Given the description of an element on the screen output the (x, y) to click on. 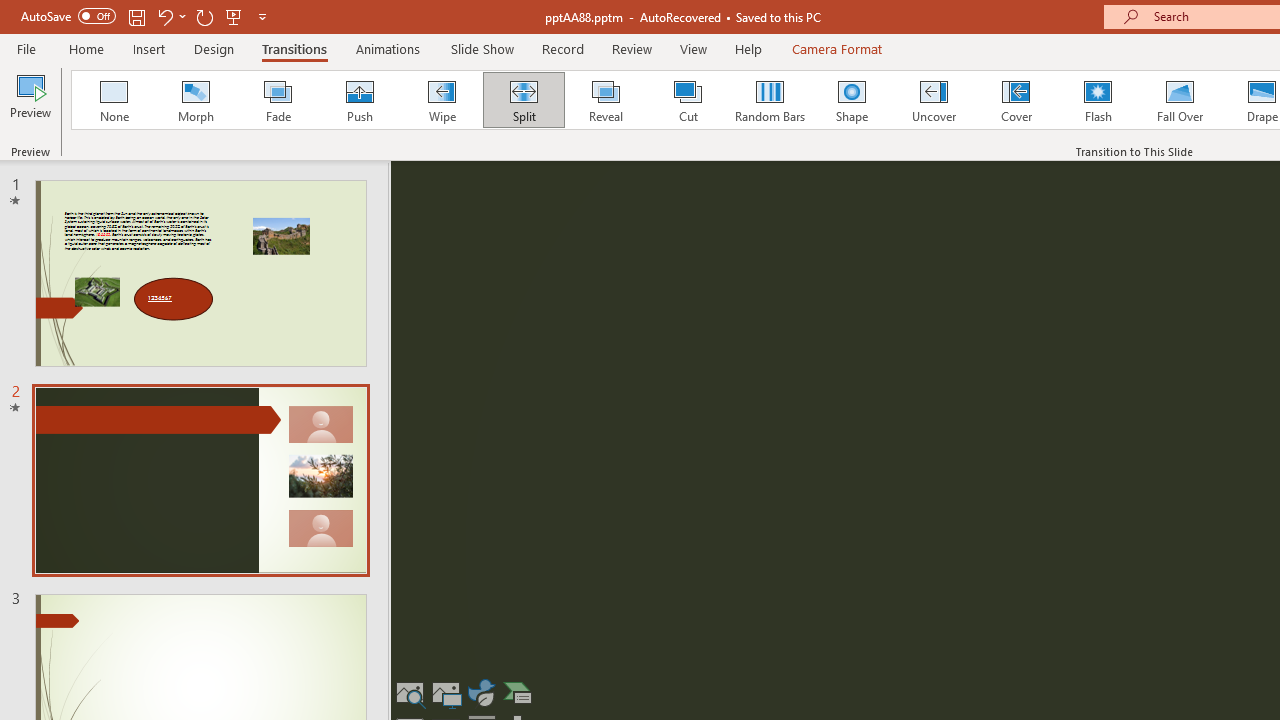
Pictures (446, 692)
Split (523, 100)
Insert an Icon (481, 692)
Shape (852, 100)
Cover (1016, 100)
Push (359, 100)
